Given the description of an element on the screen output the (x, y) to click on. 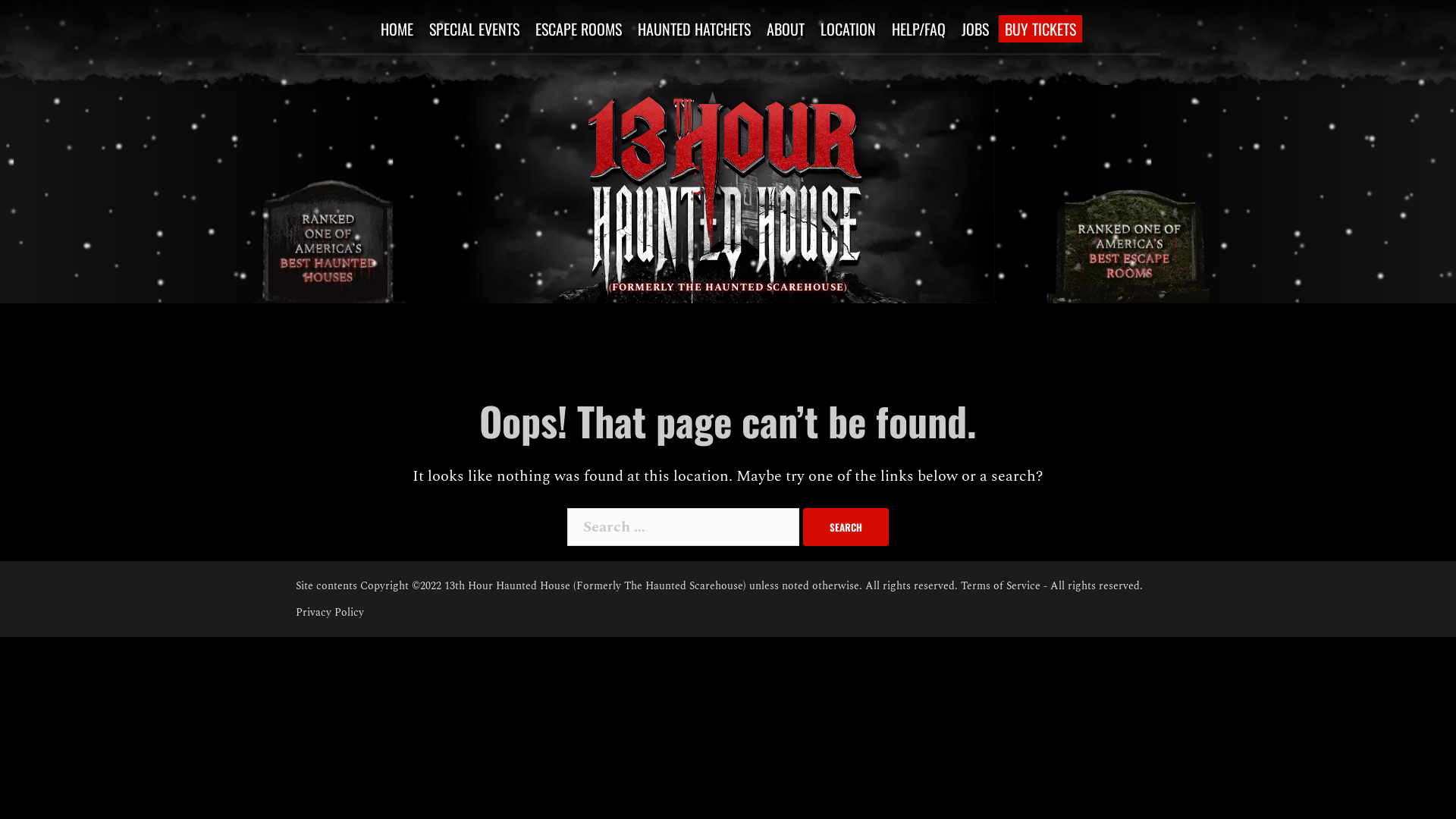
BUY TICKETS Element type: text (1039, 28)
ABOUT Element type: text (784, 28)
Search Element type: text (845, 527)
HAUNTED HATCHETS Element type: text (693, 28)
Skip to content Element type: text (0, 303)
SPECIAL EVENTS Element type: text (474, 28)
HELP/FAQ Element type: text (918, 28)
LOCATION Element type: text (847, 28)
ESCAPE ROOMS Element type: text (578, 28)
Terms of Service Element type: text (1000, 585)
HOME Element type: text (396, 28)
Privacy Policy Element type: text (329, 612)
JOBS Element type: text (974, 28)
